Given the description of an element on the screen output the (x, y) to click on. 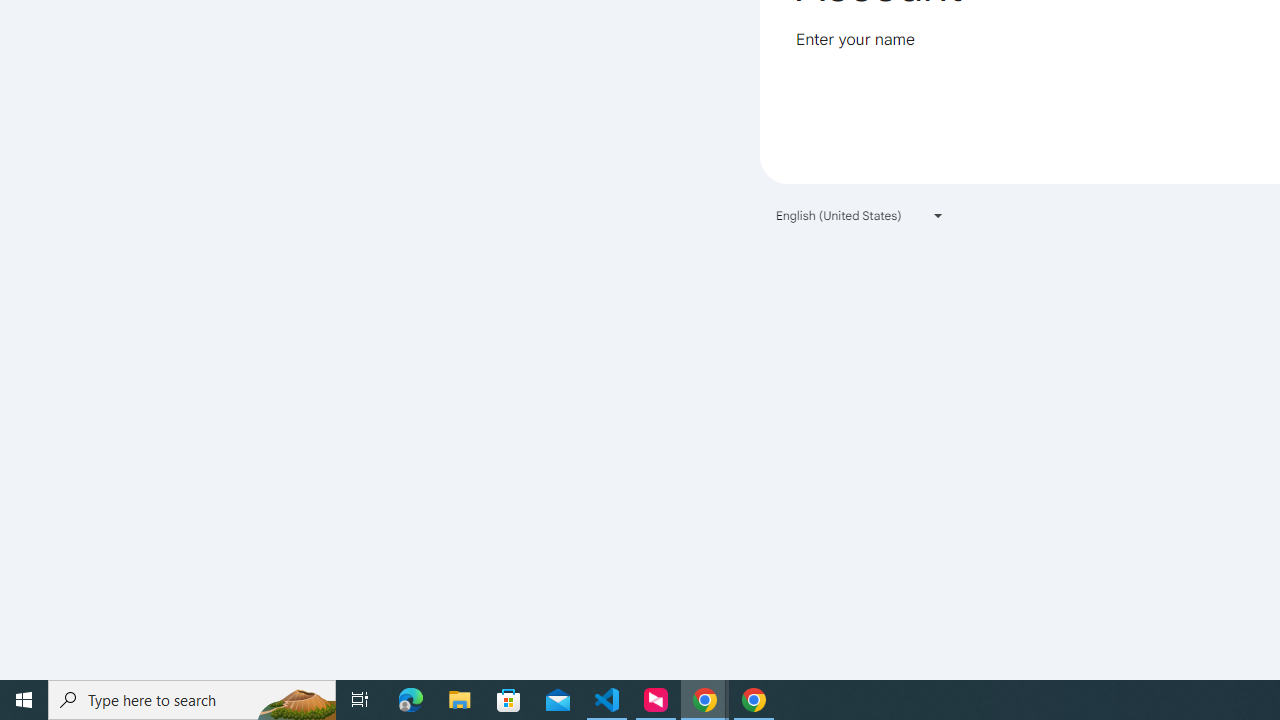
English (United States) (860, 214)
